Given the description of an element on the screen output the (x, y) to click on. 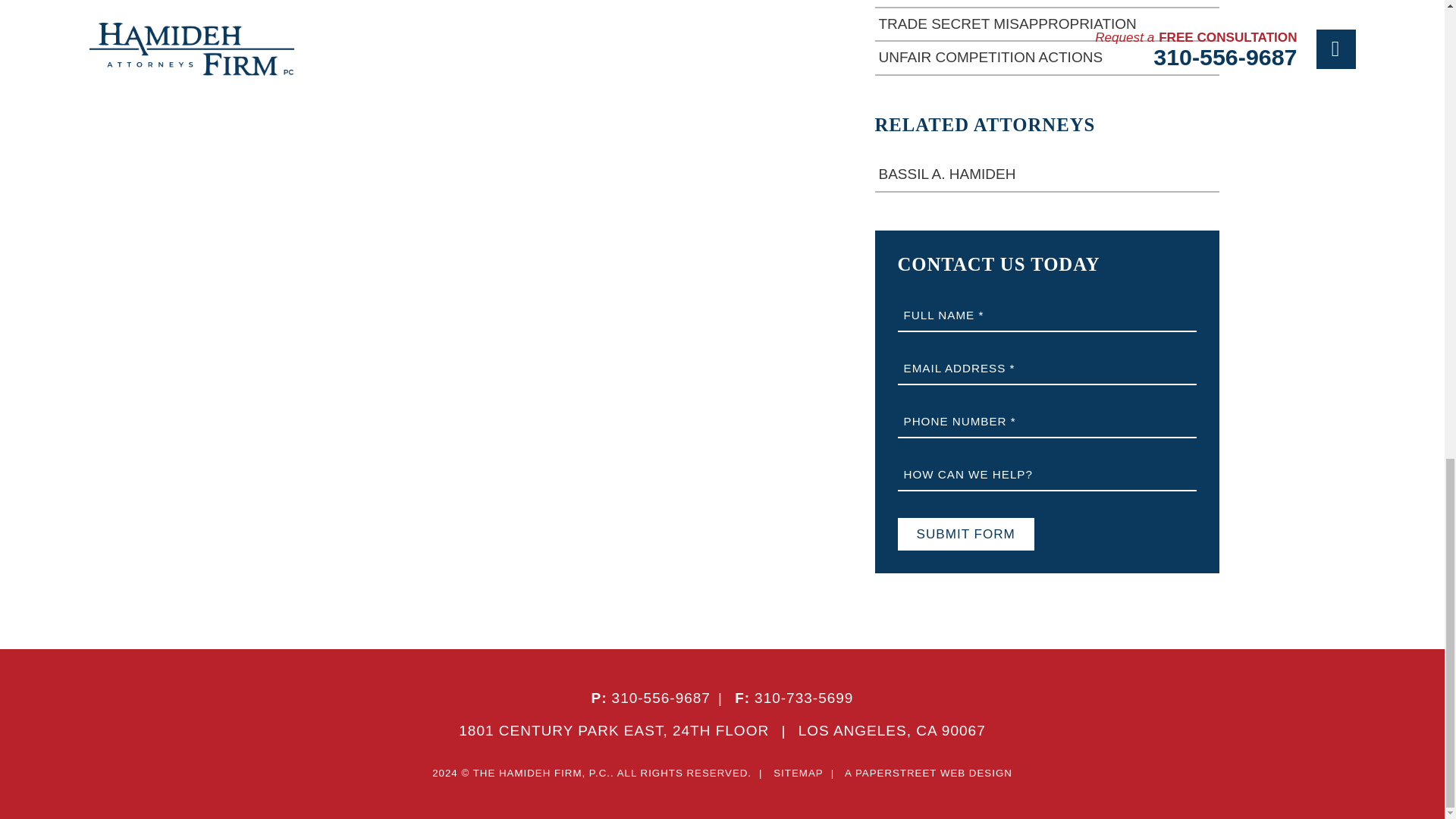
TRADE SECRET MISAPPROPRIATION (1047, 24)
THE HAMIDEH FIRM, P.C. (541, 772)
310-556-9687 (660, 697)
A PAPERSTREET WEB DESIGN (927, 772)
UNFAIR COMPETITION ACTIONS (1047, 58)
SUBMIT FORM (965, 534)
SITEMAP (797, 772)
TRADEMARK INFRINGEMENT (1047, 4)
BASSIL A. HAMIDEH (1047, 174)
